Given the description of an element on the screen output the (x, y) to click on. 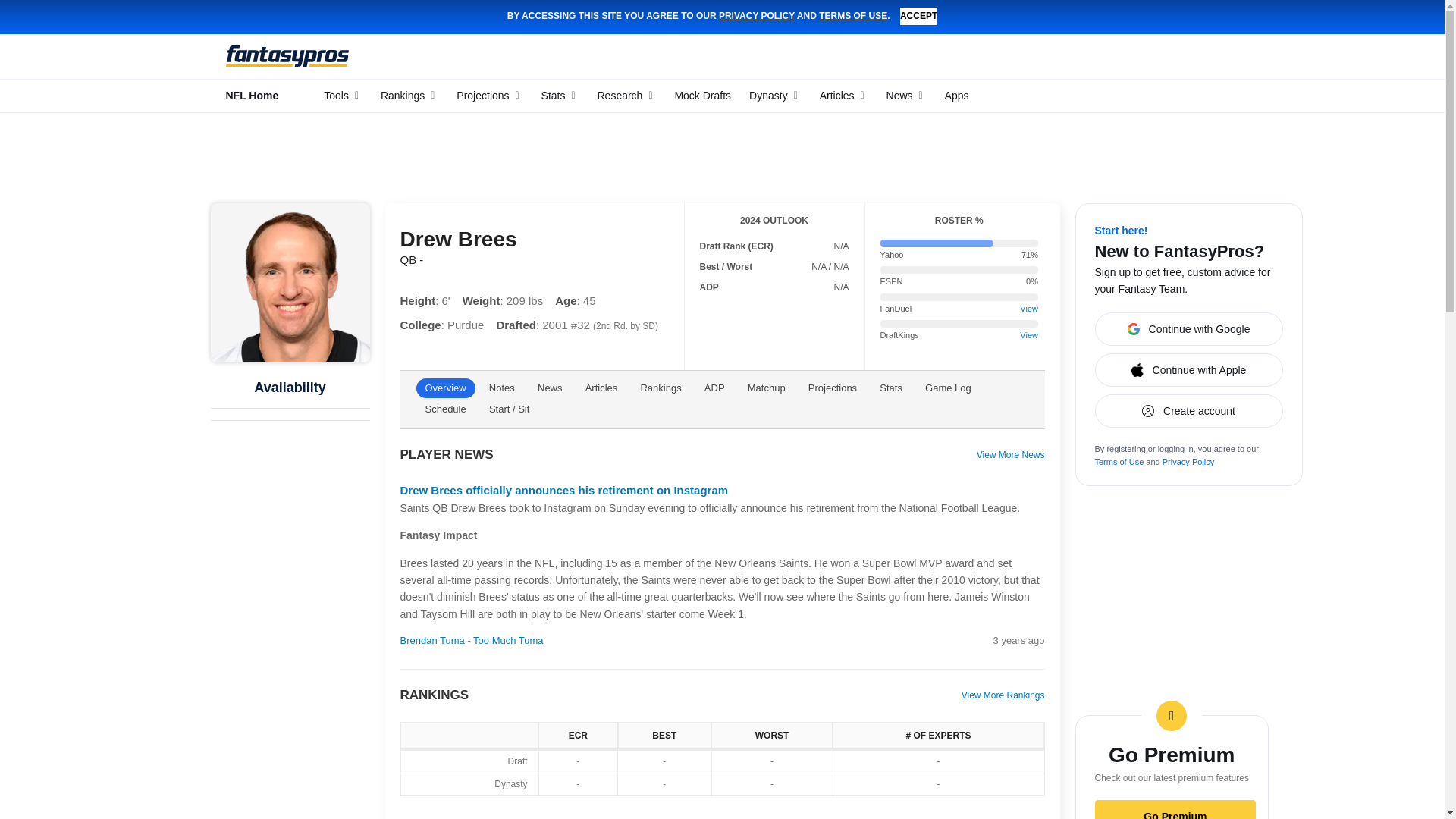
Rankings (660, 353)
Continue with Apple (1188, 335)
Terms of Use (1119, 426)
View (1029, 299)
View (1029, 273)
Import Your Team (271, 445)
Schedule (444, 374)
Continue with Google (1188, 294)
Go Premium (1175, 781)
Matchup (766, 353)
View More Rankings (1002, 810)
View More Rankings (1002, 660)
Notes (502, 353)
Sign In (1225, 57)
Overview (444, 353)
